Given the description of an element on the screen output the (x, y) to click on. 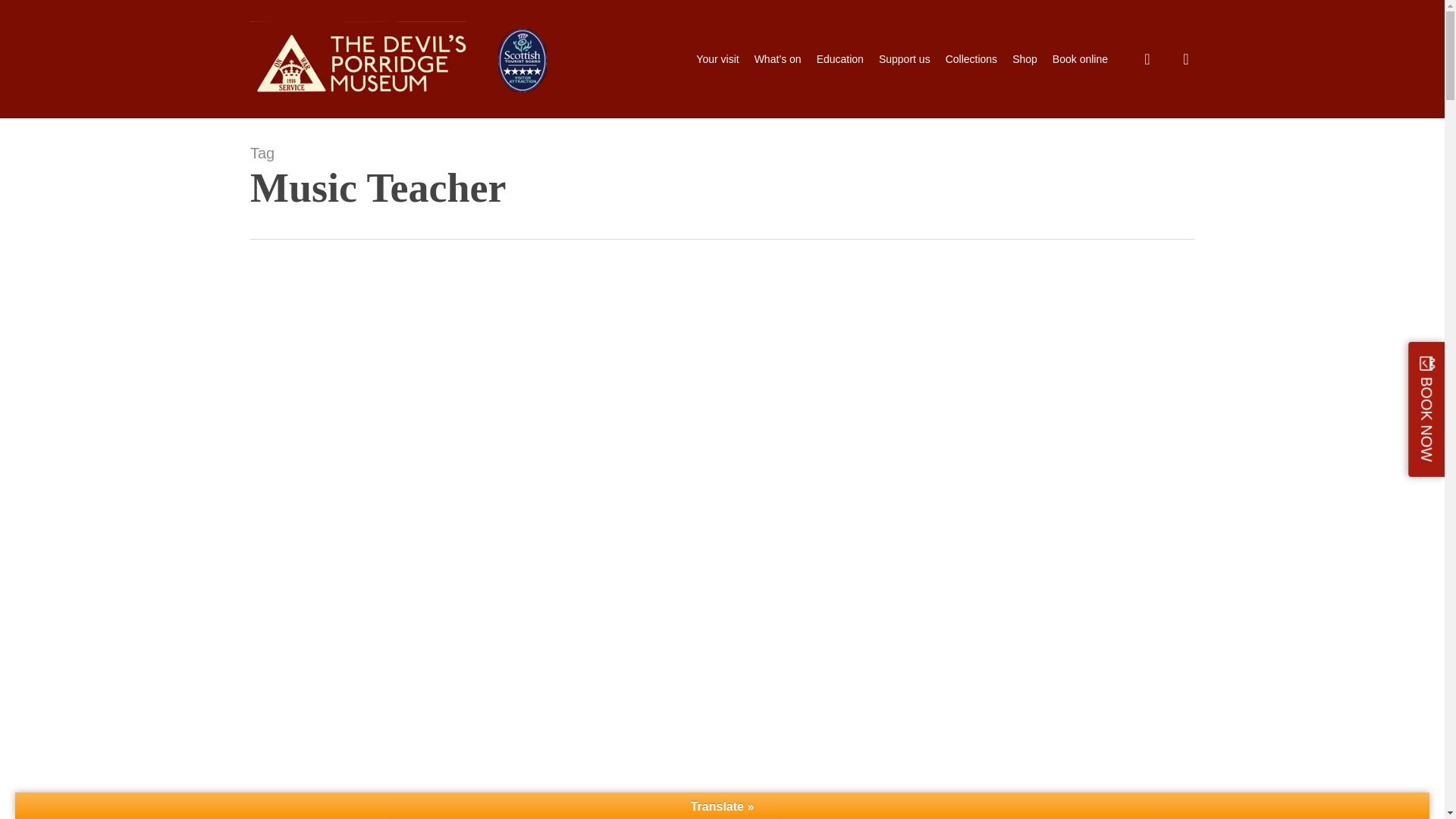
Collections (970, 59)
Shop (1023, 59)
Your visit (716, 59)
Book online (1080, 59)
search (1147, 59)
Support us (904, 59)
Education (839, 59)
